Given the description of an element on the screen output the (x, y) to click on. 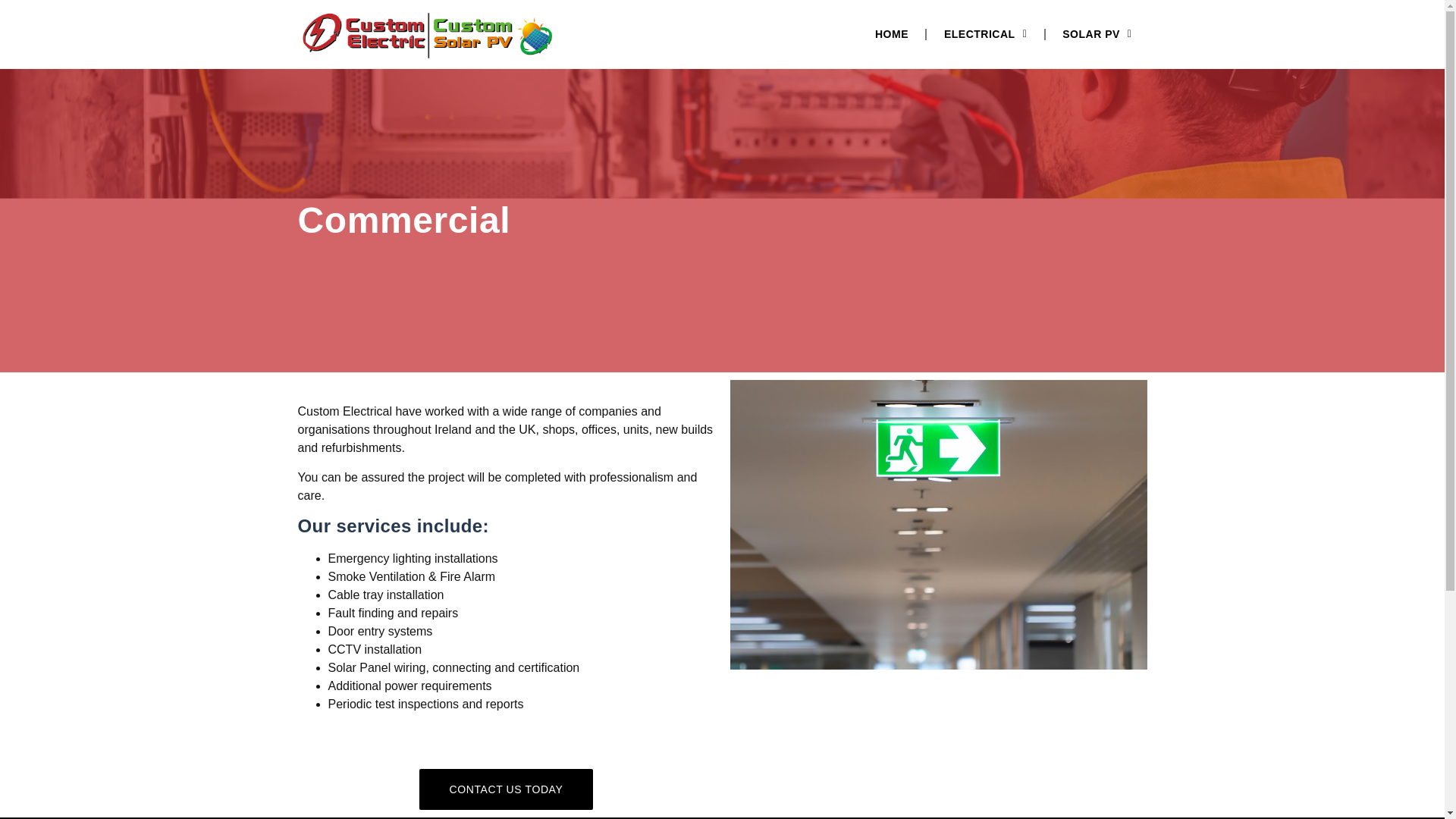
ELECTRICAL (985, 34)
CONTACT US TODAY (506, 789)
SOLAR PV (1096, 34)
HOME (891, 34)
